Given the description of an element on the screen output the (x, y) to click on. 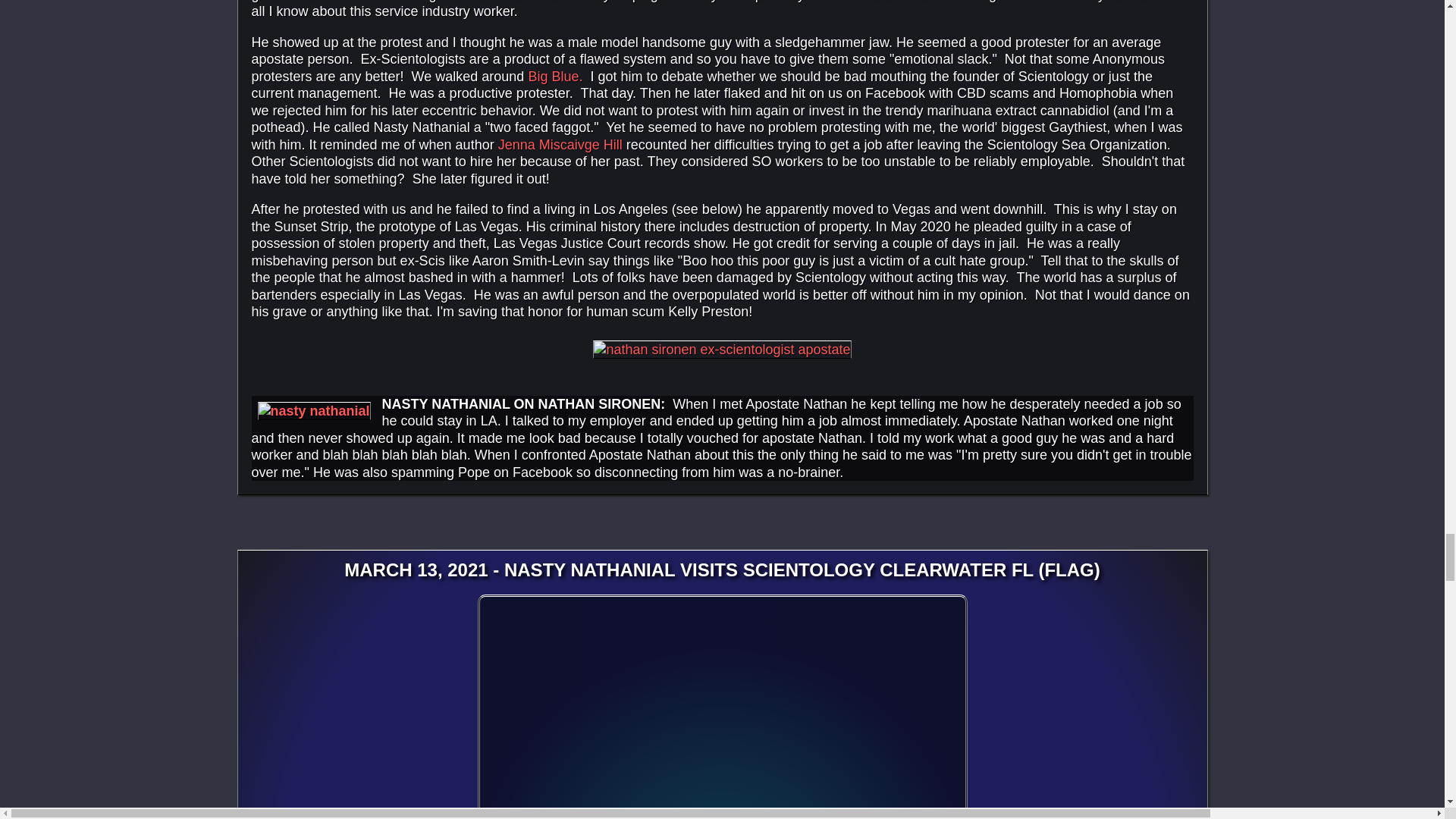
YouTube video player (722, 706)
